Given the description of an element on the screen output the (x, y) to click on. 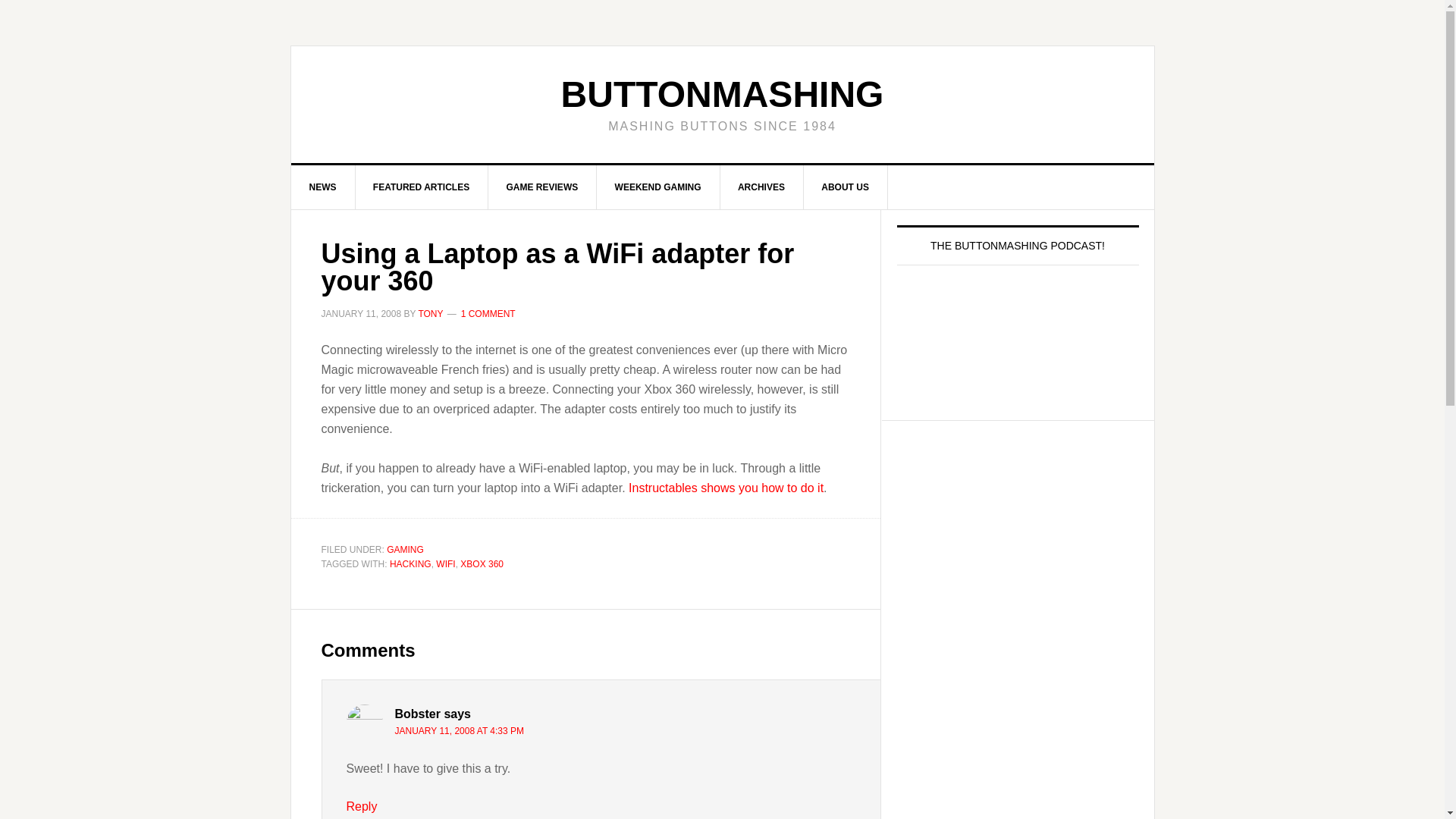
ABOUT US (845, 187)
Instructables shows you how to do it (726, 486)
1 COMMENT (488, 313)
NEWS (323, 187)
BUTTONMASHING (721, 94)
GAMING (405, 549)
HACKING (410, 563)
ARCHIVES (761, 187)
JANUARY 11, 2008 AT 4:33 PM (459, 730)
TONY (429, 313)
XBOX 360 (481, 563)
WIFI (444, 563)
GAME REVIEWS (541, 187)
FEATURED ARTICLES (421, 187)
WEEKEND GAMING (658, 187)
